Given the description of an element on the screen output the (x, y) to click on. 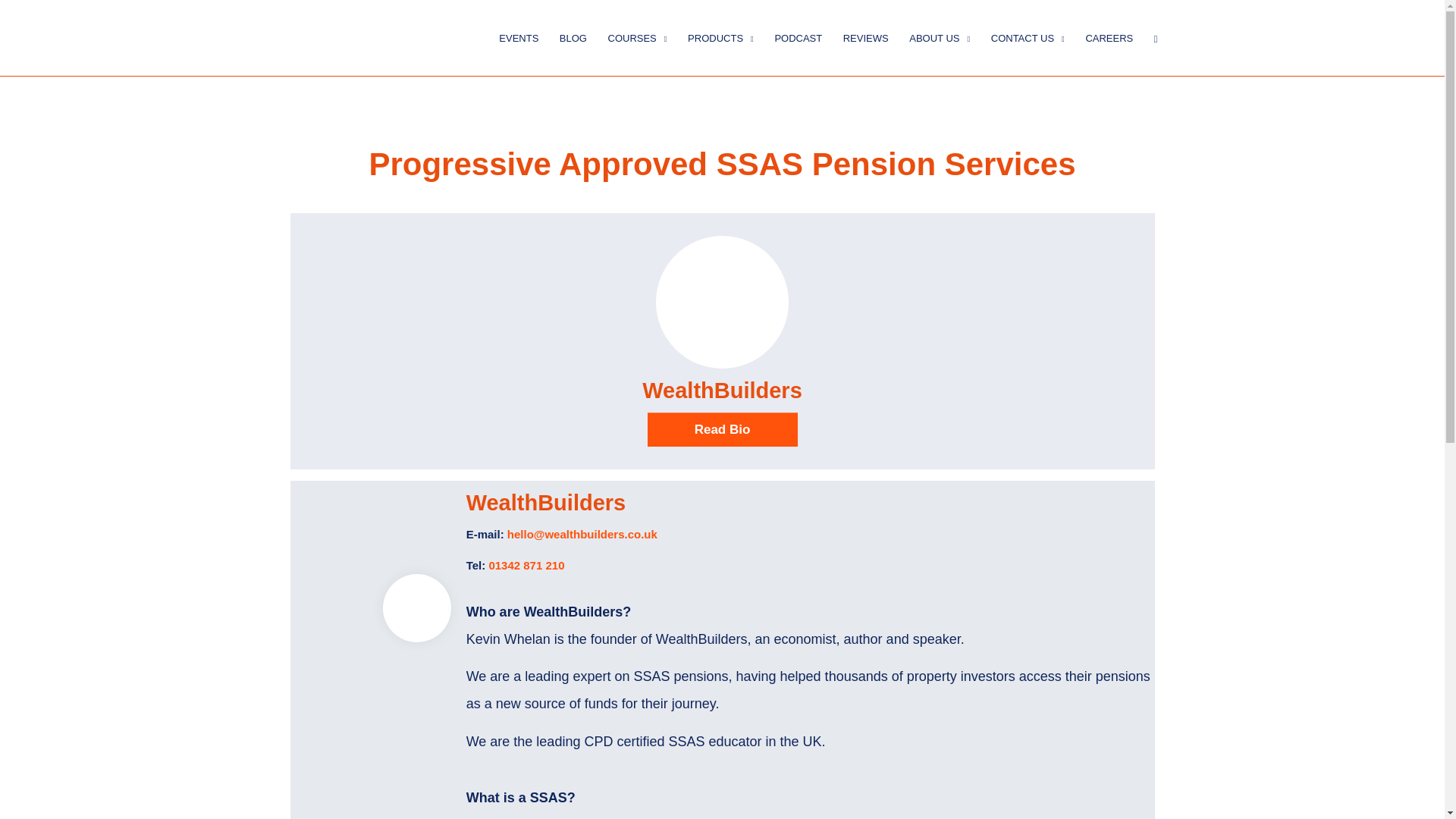
BLOG (573, 37)
Read Bio (722, 429)
CAREERS (1109, 37)
PRODUCTS (720, 37)
PODCAST (797, 37)
CONTACT US (1027, 37)
ABOUT US (939, 37)
REVIEWS (865, 37)
OPEN SEARCH FORM (1155, 37)
COURSES (636, 37)
EVENTS (518, 37)
